Given the description of an element on the screen output the (x, y) to click on. 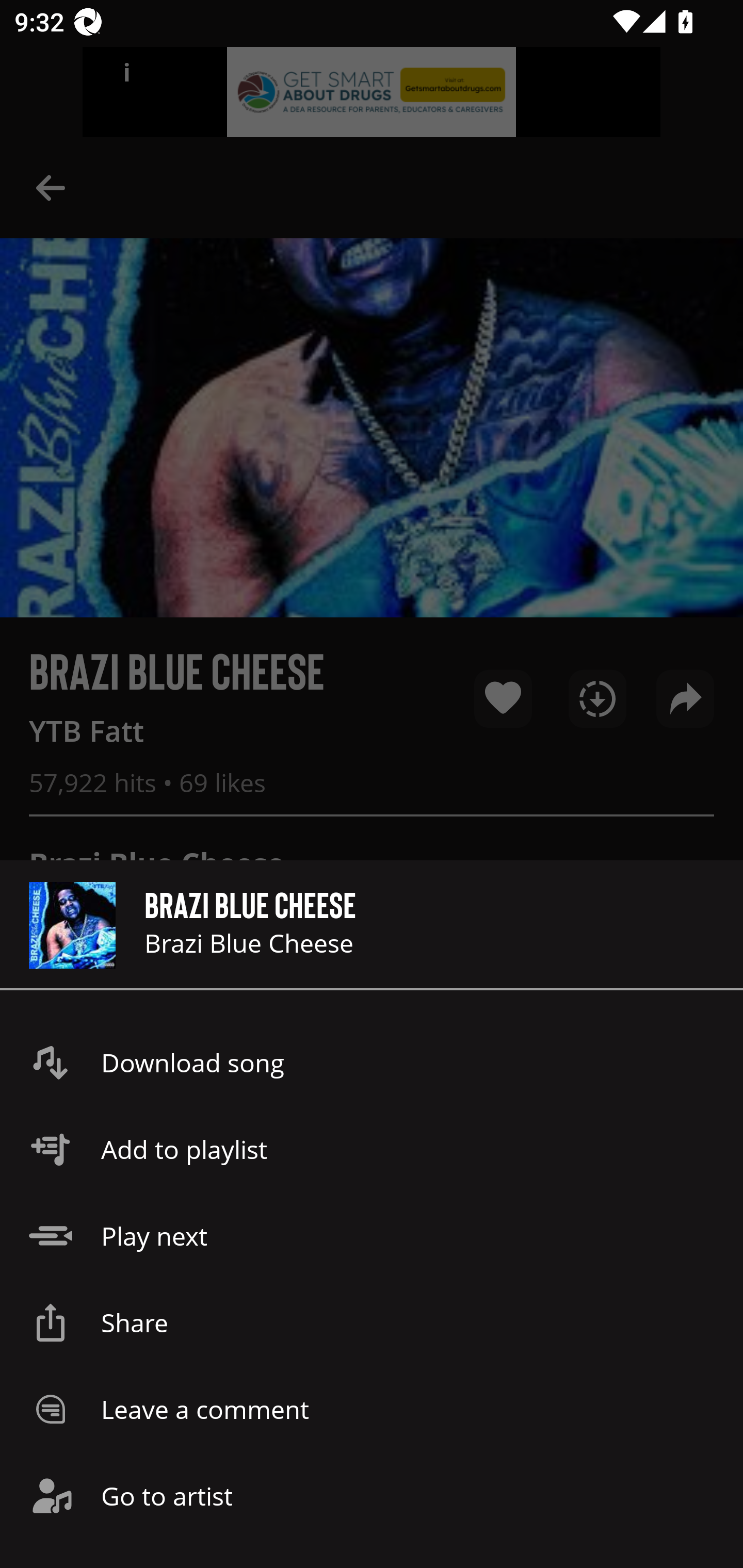
Download song (371, 1062)
Add to playlist (371, 1149)
Play next (371, 1236)
Share (371, 1322)
Leave a comment (371, 1408)
Go to artist (371, 1495)
